Given the description of an element on the screen output the (x, y) to click on. 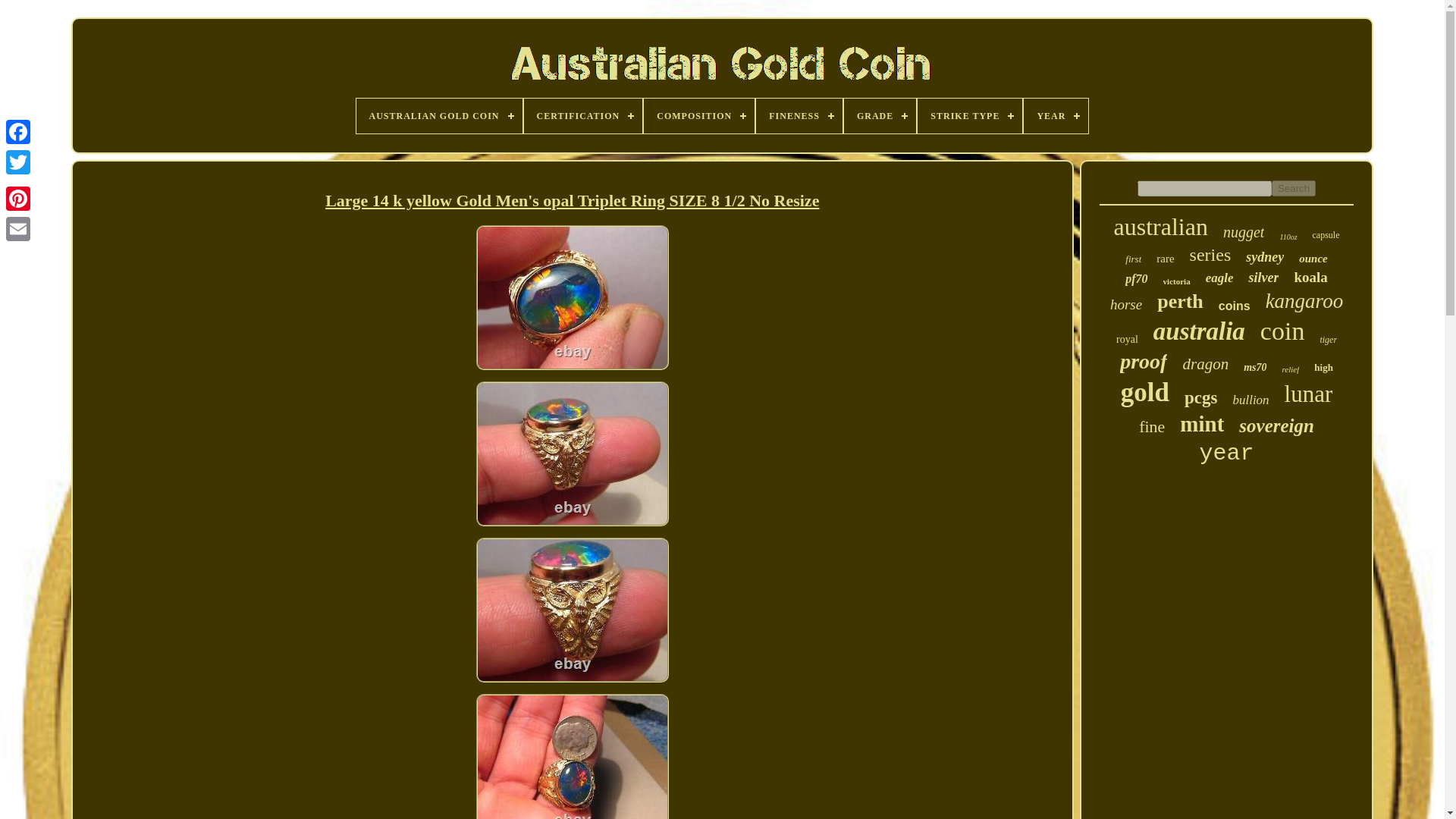
AUSTRALIAN GOLD COIN (439, 115)
CERTIFICATION (583, 115)
Search (1293, 188)
COMPOSITION (698, 115)
